Given the description of an element on the screen output the (x, y) to click on. 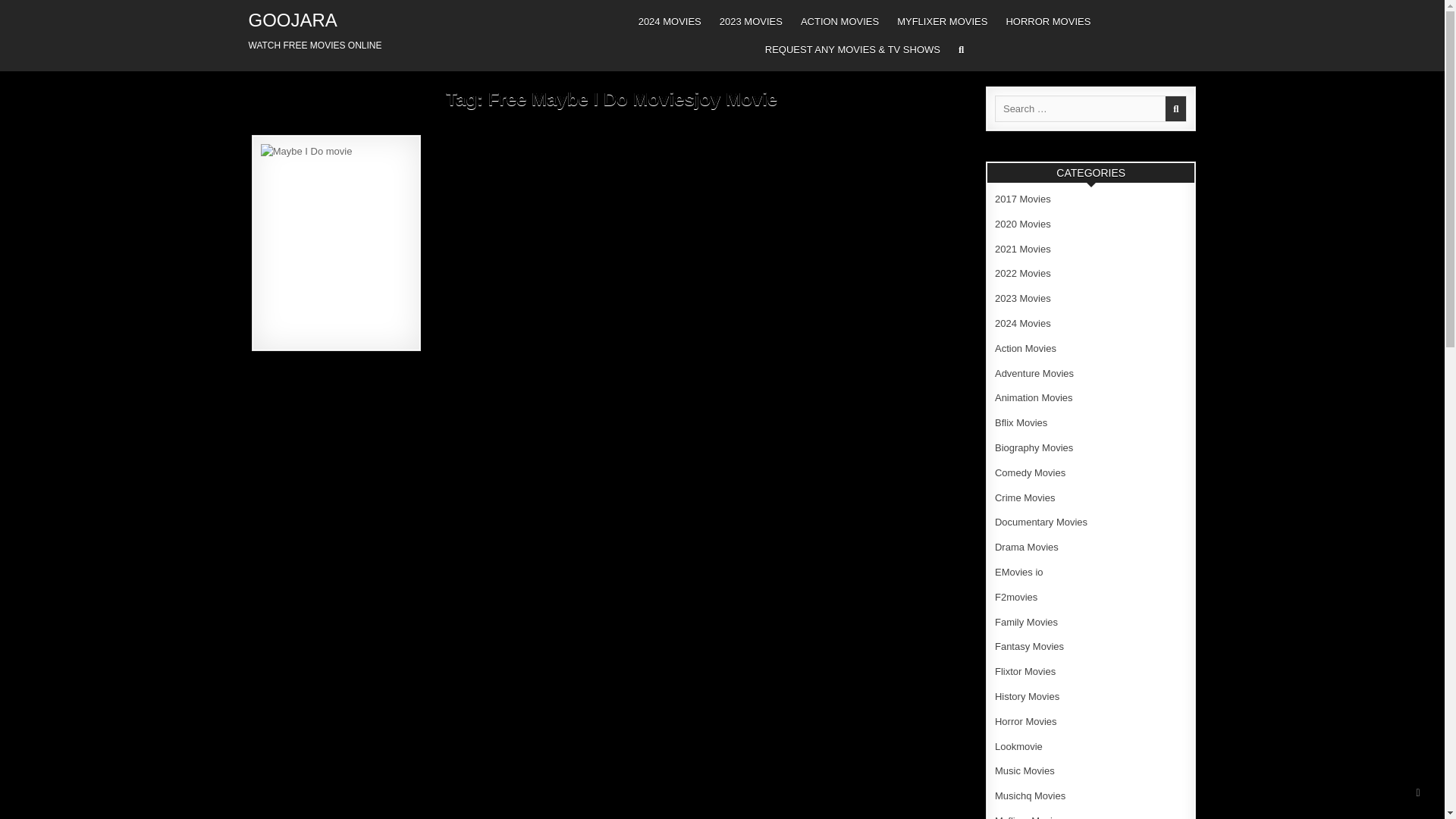
SCROLL TO TOP (1417, 792)
HORROR MOVIES (1047, 21)
Family Movies (1026, 622)
Myflixer Movies (1028, 816)
MYFLIXER MOVIES (941, 21)
Action Movies (1025, 348)
F2movies (1015, 596)
Adventure Movies (1034, 373)
Flixtor Movies (1024, 671)
2024 MOVIES (669, 21)
EMovies io (1018, 572)
2024 Movies (1022, 323)
2020 Movies (1022, 224)
Biography Movies (1033, 447)
Musichq Movies (1029, 795)
